Given the description of an element on the screen output the (x, y) to click on. 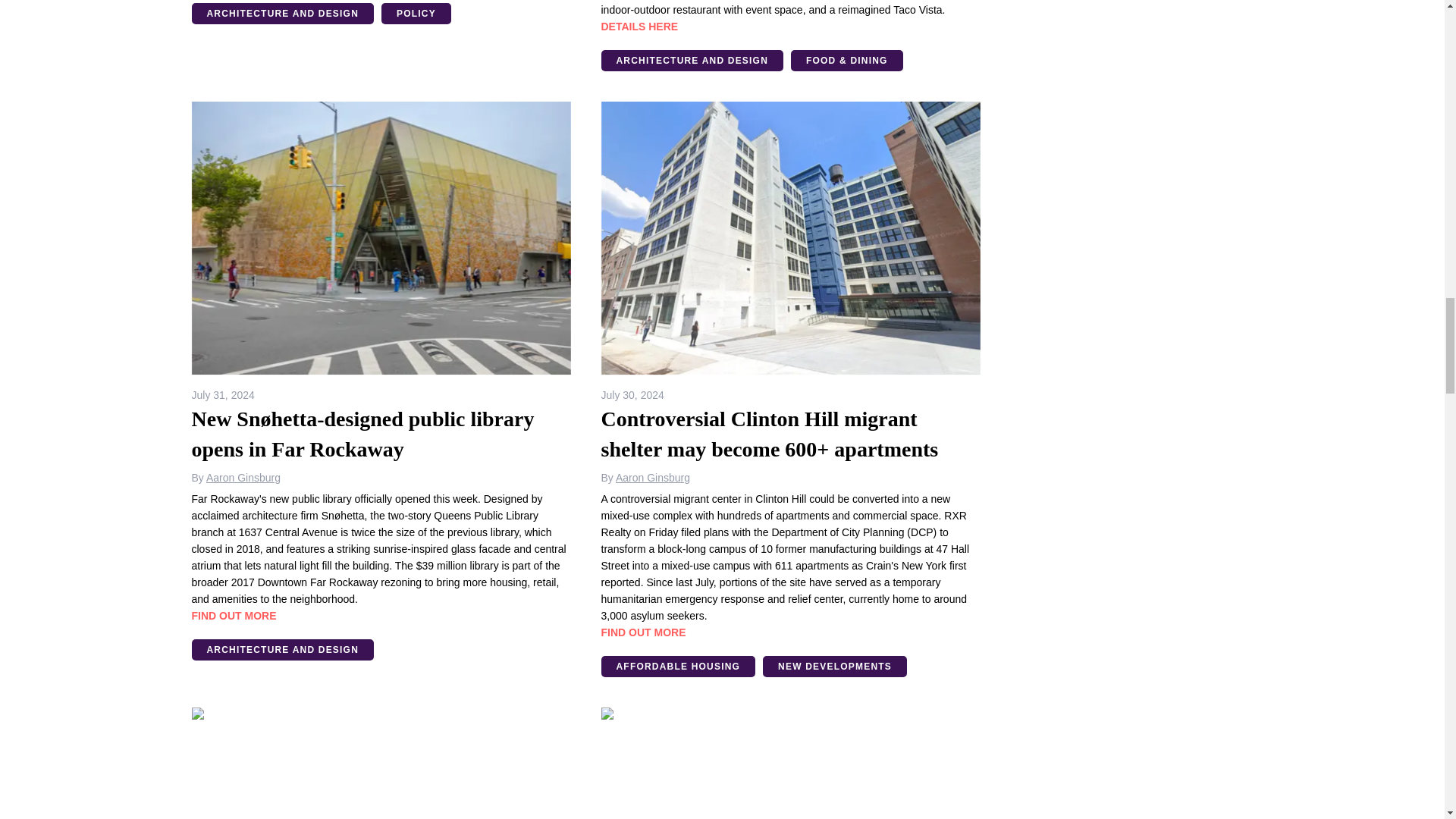
Posts by Aaron Ginsburg (652, 477)
Posts by Aaron Ginsburg (243, 477)
